Given the description of an element on the screen output the (x, y) to click on. 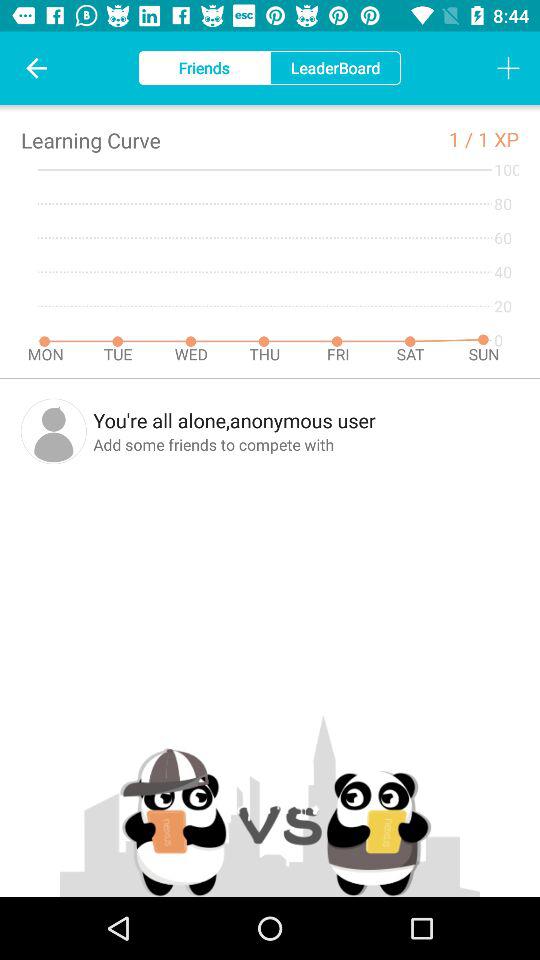
flip until the add some friends item (306, 444)
